Given the description of an element on the screen output the (x, y) to click on. 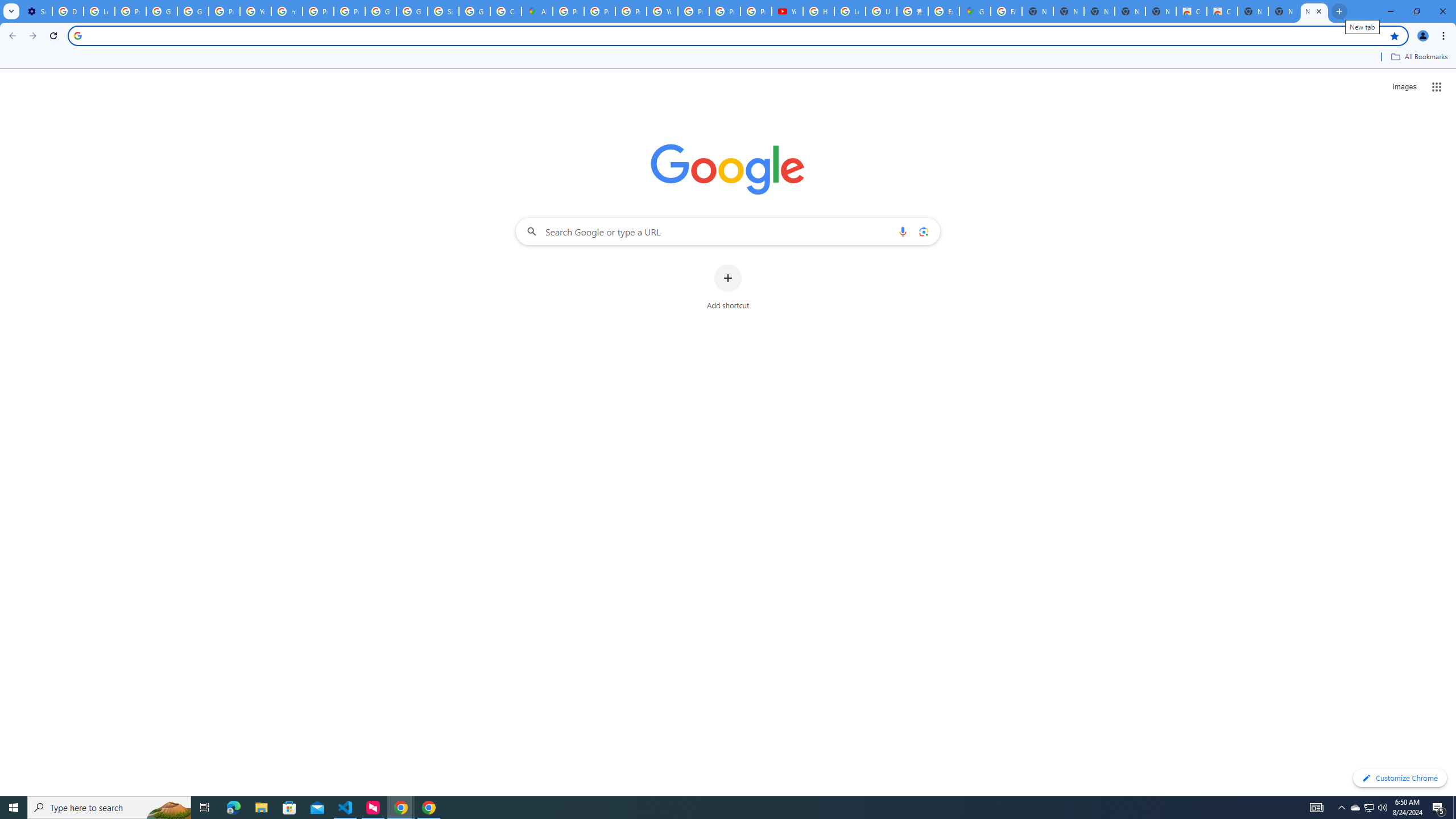
Sign in - Google Accounts (443, 11)
Policy Accountability and Transparency - Transparency Center (568, 11)
Google Account Help (161, 11)
Classic Blue - Chrome Web Store (1222, 11)
Privacy Checkup (724, 11)
New Tab (1283, 11)
